Given the description of an element on the screen output the (x, y) to click on. 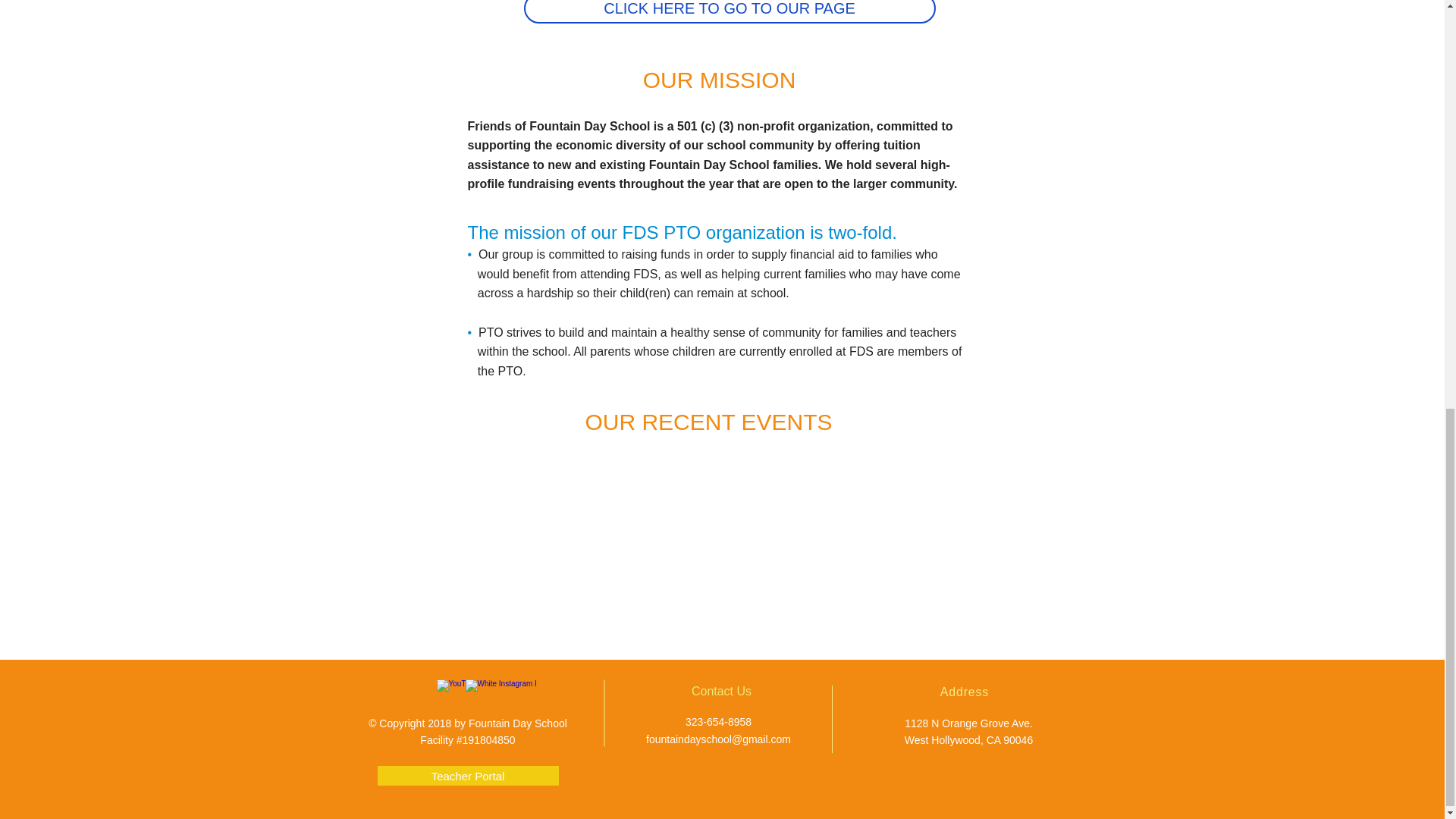
CLICK HERE TO GO TO OUR PAGE (728, 11)
Teacher Portal (468, 775)
